Given the description of an element on the screen output the (x, y) to click on. 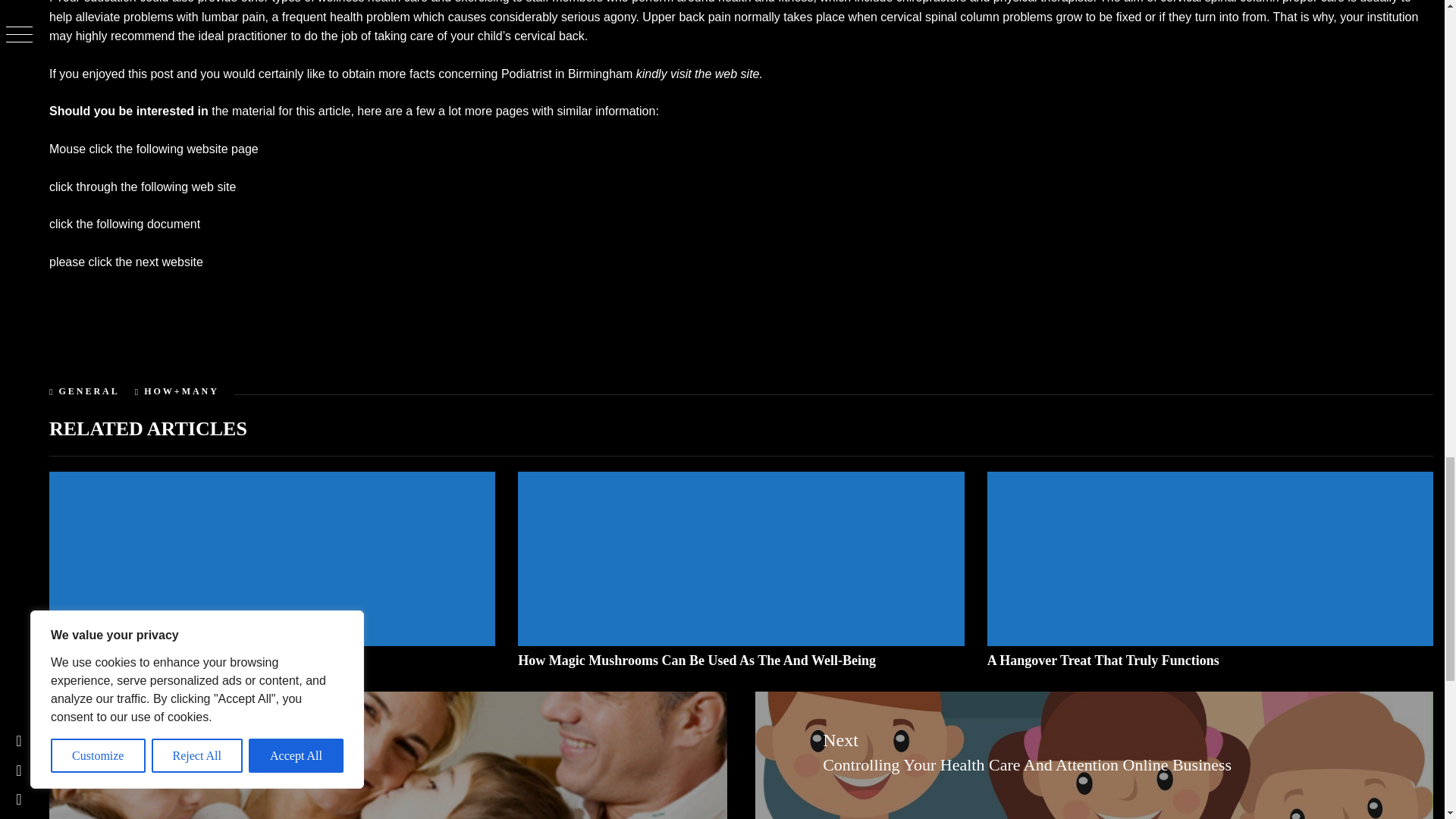
Podiatrist in Birmingham (565, 73)
Mouse click the following website page (154, 148)
GENERAL (88, 390)
click through the following web site (142, 186)
please click the next website (126, 261)
click the following document (124, 223)
